Given the description of an element on the screen output the (x, y) to click on. 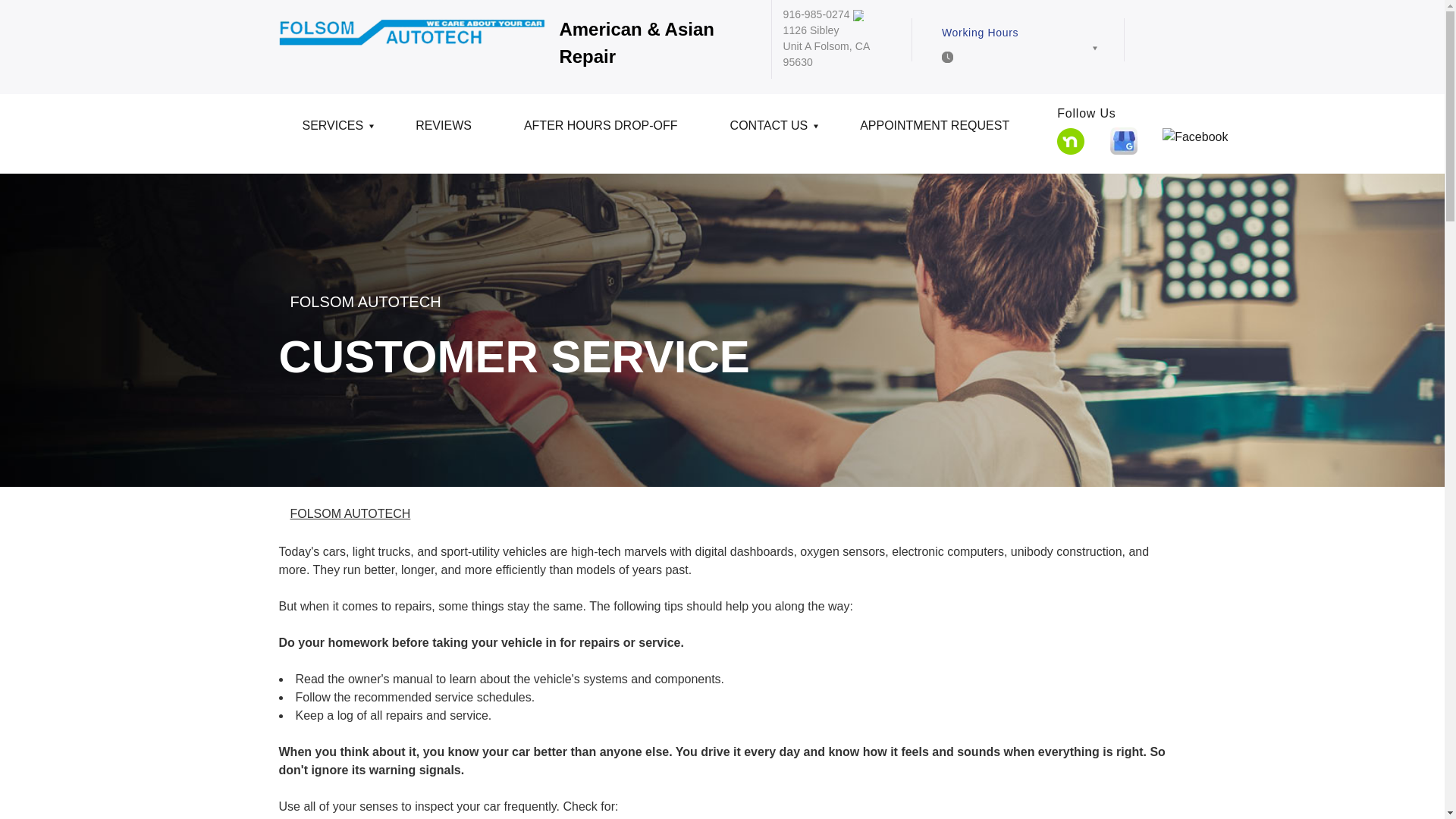
FOLSOM AUTOTECH (349, 513)
APPOINTMENT REQUEST (936, 131)
916-985-0274 (816, 14)
SERVICES (336, 131)
AFTER HOURS DROP-OFF (603, 131)
CONTACT US (771, 131)
FOLSOM AUTOTECH (365, 301)
REVIEWS (445, 131)
